Given the description of an element on the screen output the (x, y) to click on. 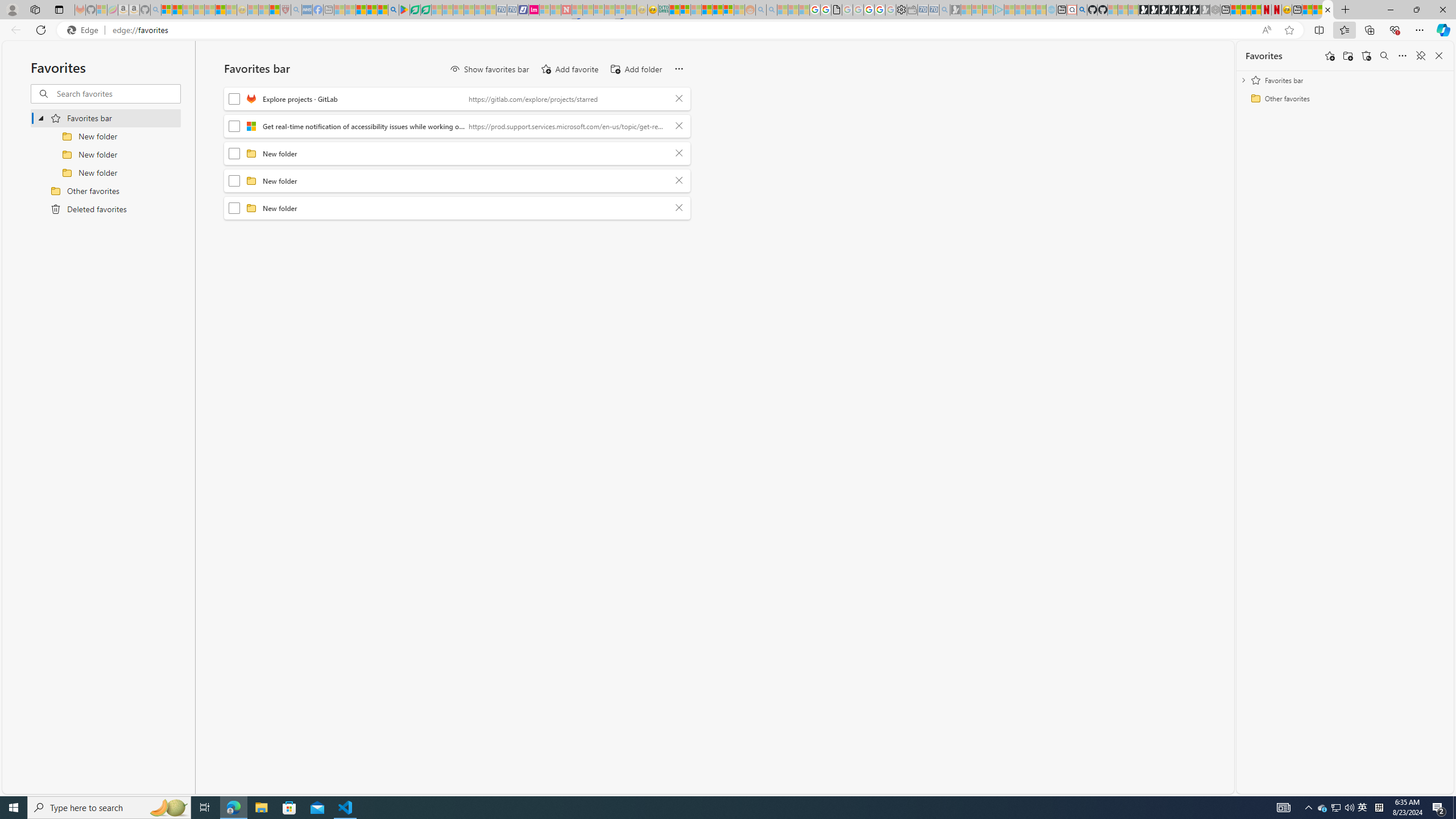
MSNBC - MSN - Sleeping (339, 9)
Restore deleted favorites (1366, 55)
Play Free Online Games | Games from Microsoft Start (1143, 9)
Microsoft account | Privacy - Sleeping (987, 9)
Microsoft Word - consumer-privacy address update 2.2021 (426, 9)
Latest Politics News & Archive | Newsweek.com - Sleeping (566, 9)
